Given the description of an element on the screen output the (x, y) to click on. 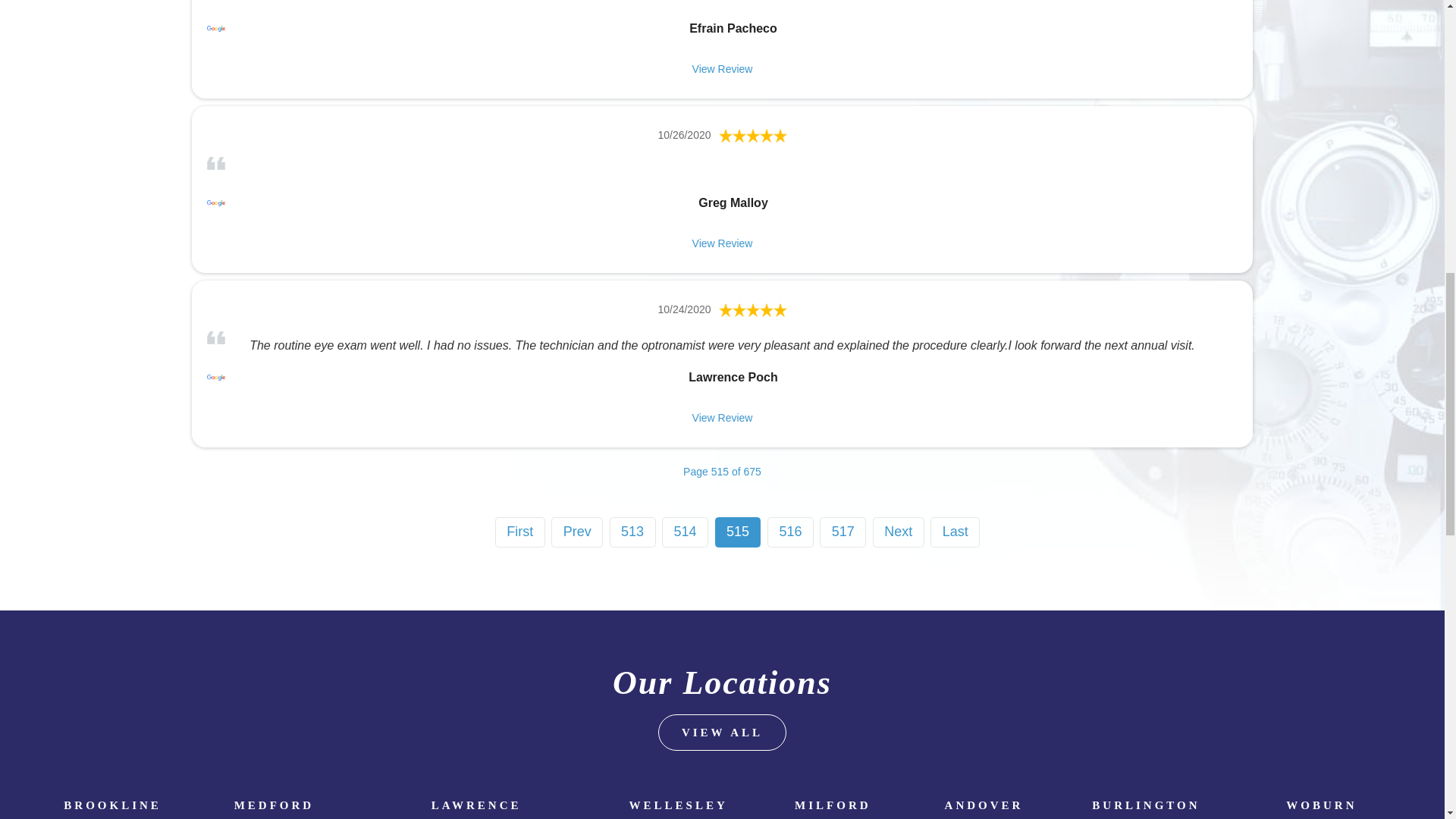
5 (753, 135)
Google Business Profile (215, 377)
Google Business Profile (215, 28)
5 (753, 309)
Google Business Profile (215, 203)
